Given the description of an element on the screen output the (x, y) to click on. 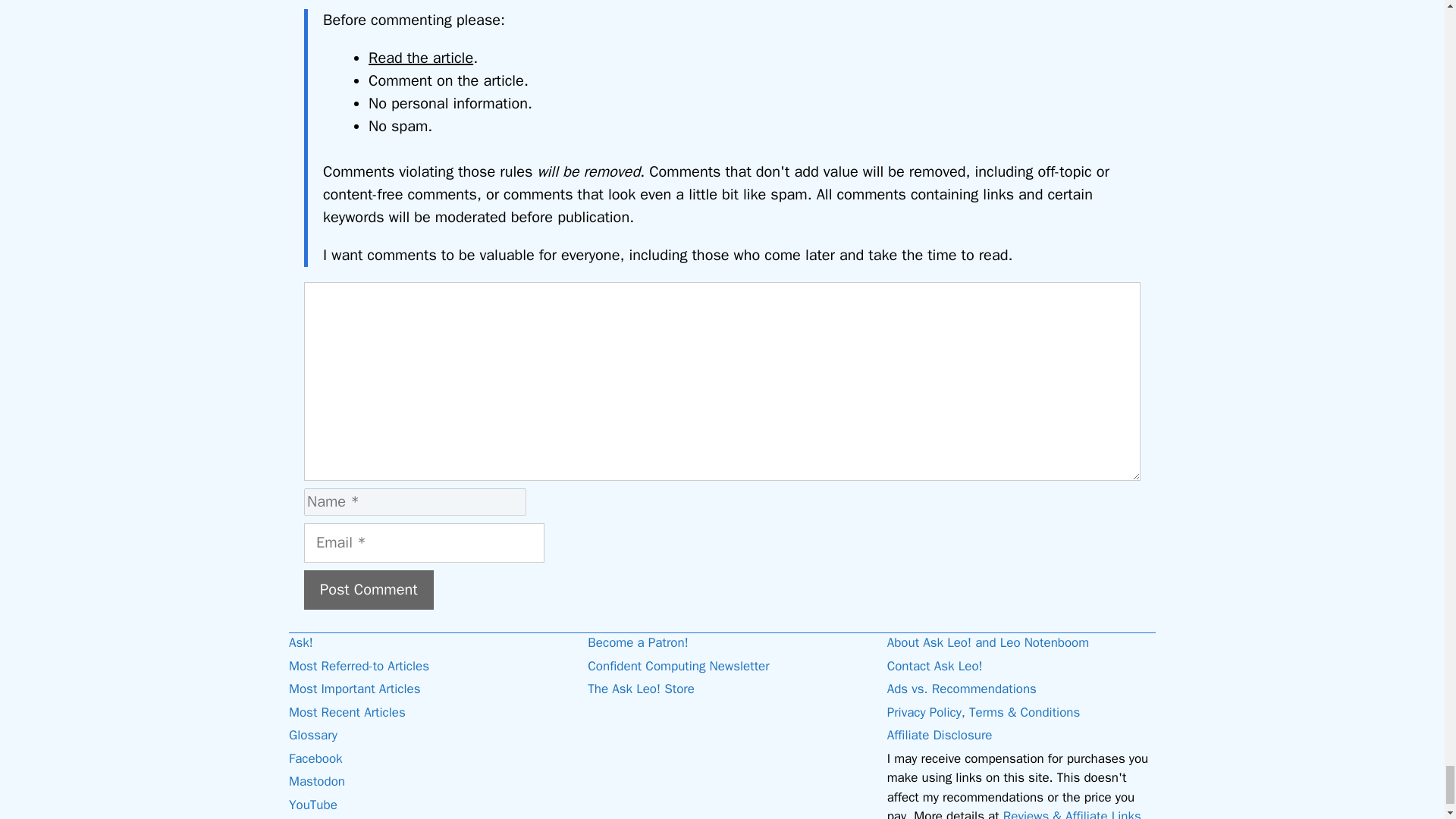
Post Comment (368, 589)
